Given the description of an element on the screen output the (x, y) to click on. 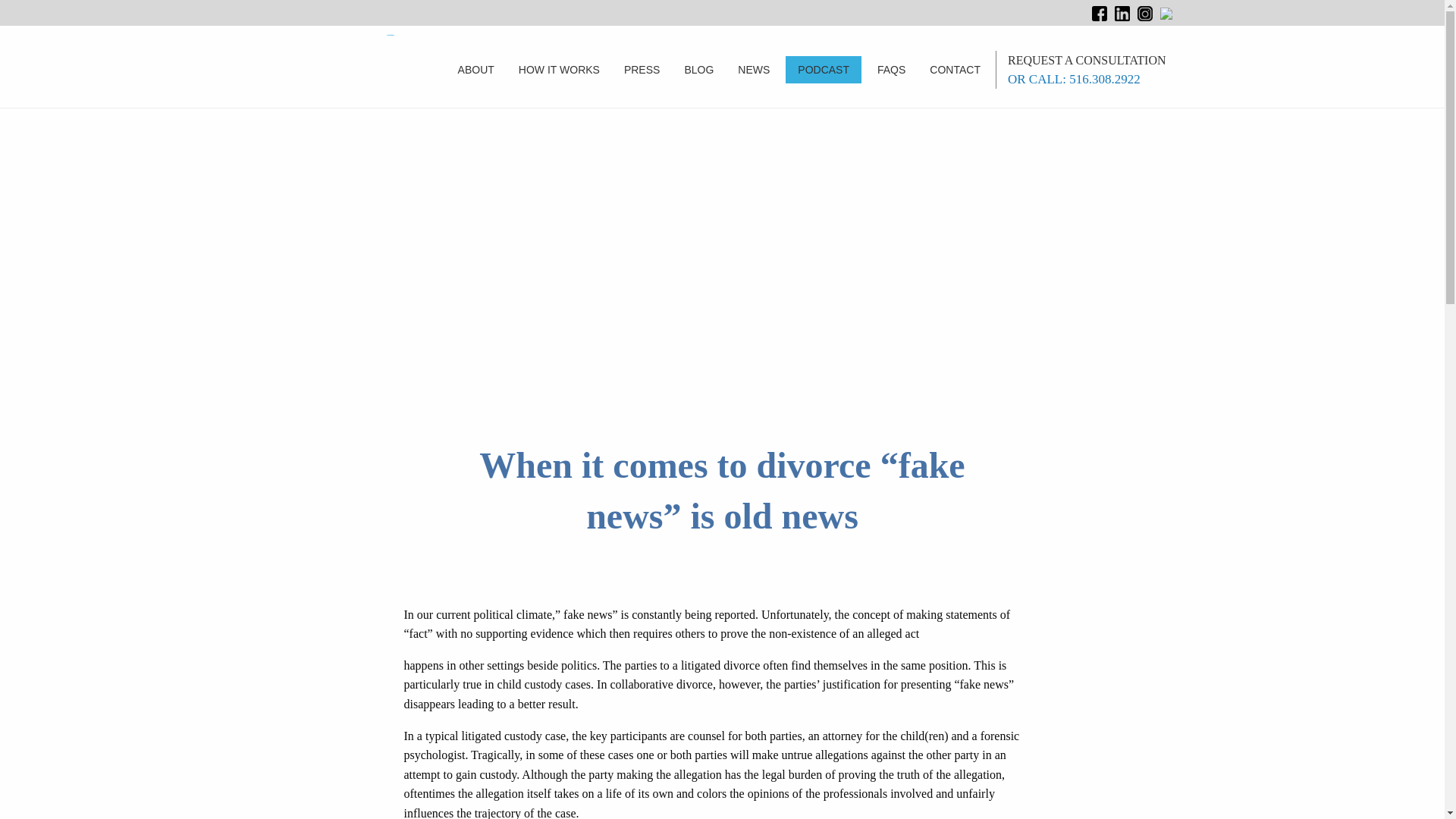
NEWS (753, 69)
PRESS (641, 69)
PODCAST (823, 69)
CONTACT (954, 69)
BLOG (698, 69)
HOW IT WORKS (558, 69)
FAQS (890, 69)
REQUEST A CONSULTATION (1086, 60)
ABOUT (475, 69)
